Given the description of an element on the screen output the (x, y) to click on. 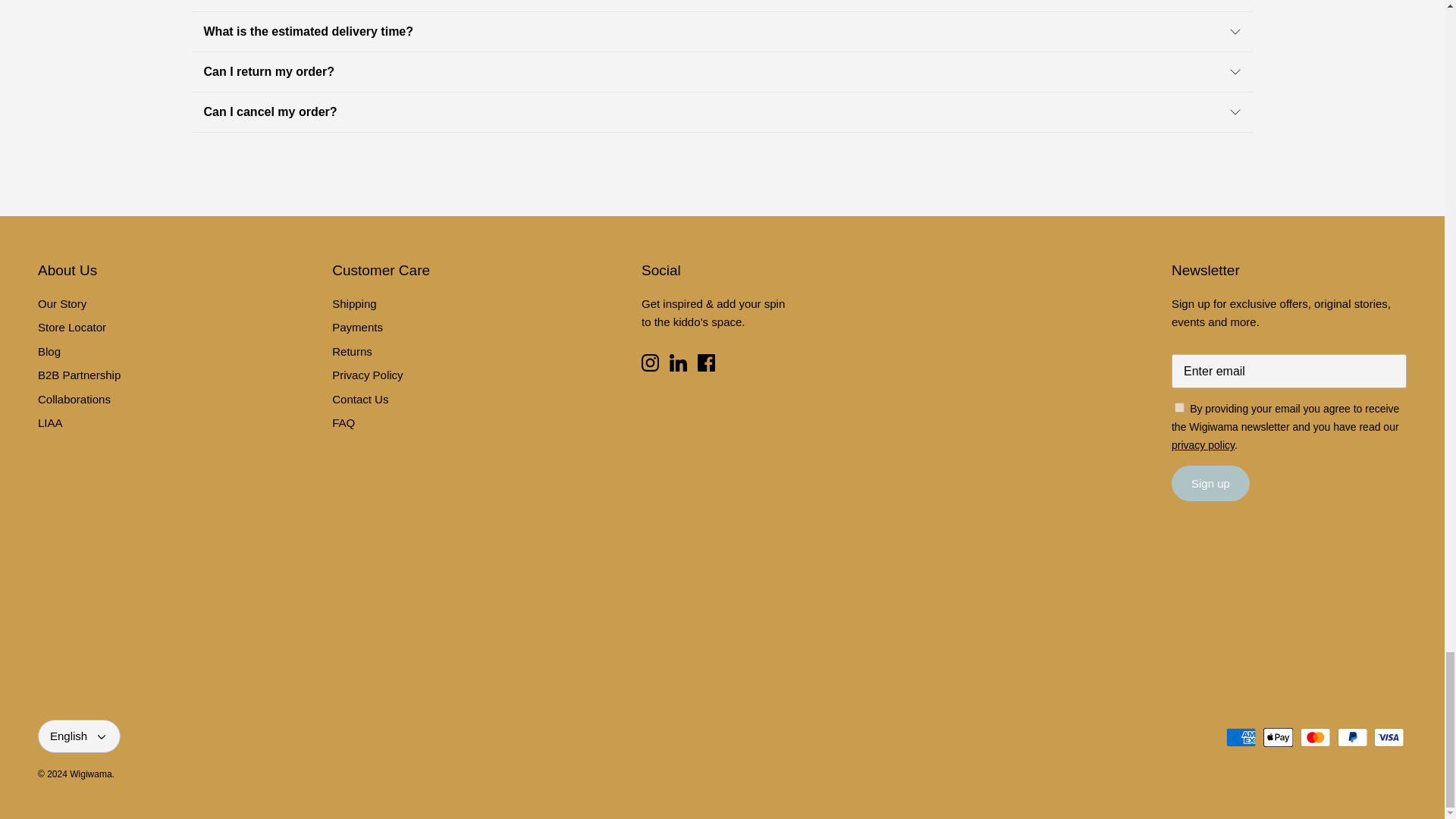
on (1179, 407)
Down (100, 736)
Visa (1388, 737)
Facebook (705, 362)
Instagram (650, 362)
American Express (1240, 737)
Mastercard (1315, 737)
PayPal (1352, 737)
Apple Pay (1277, 737)
